Given the description of an element on the screen output the (x, y) to click on. 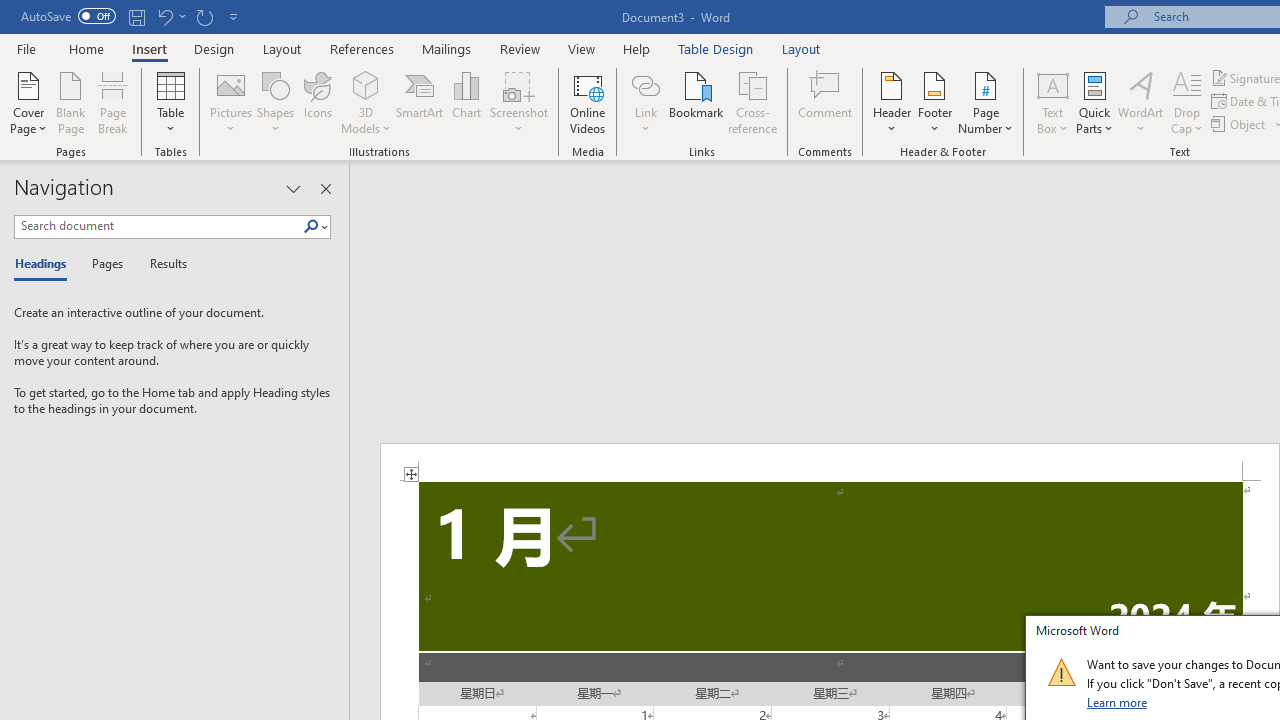
Chart... (466, 102)
Link (645, 84)
Close pane (325, 188)
3D Models (366, 102)
Search document (157, 226)
Screenshot (518, 102)
Review (520, 48)
Cover Page (28, 102)
Header -Section 1- (830, 461)
Bookmark... (695, 102)
Object... (1240, 124)
Table Design (715, 48)
Online Videos... (588, 102)
Design (214, 48)
